Given the description of an element on the screen output the (x, y) to click on. 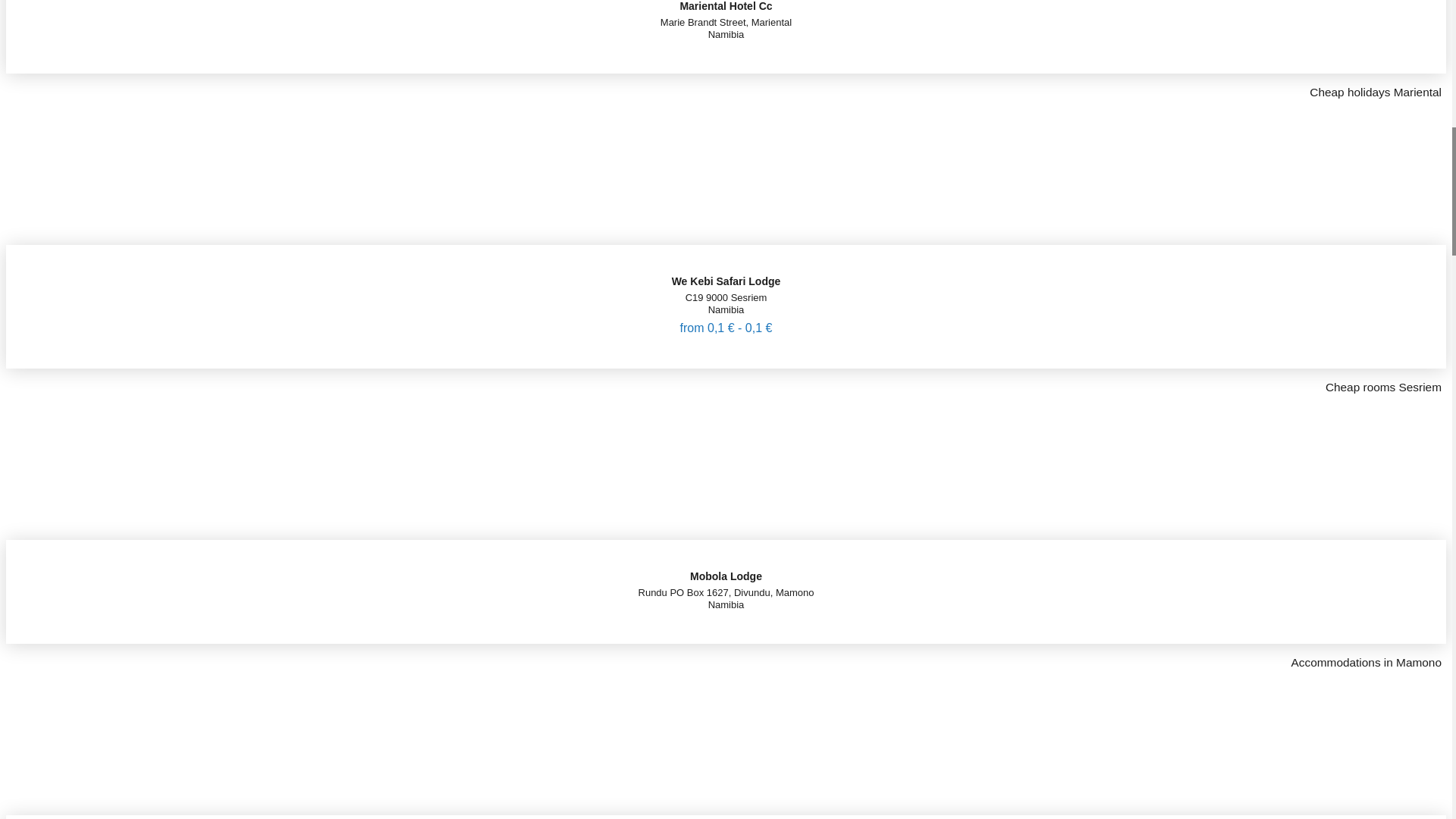
Mariental Hotel Cc (725, 6)
We Kebi Safari Lodge (726, 265)
Mobola Lodge (726, 560)
